Given the description of an element on the screen output the (x, y) to click on. 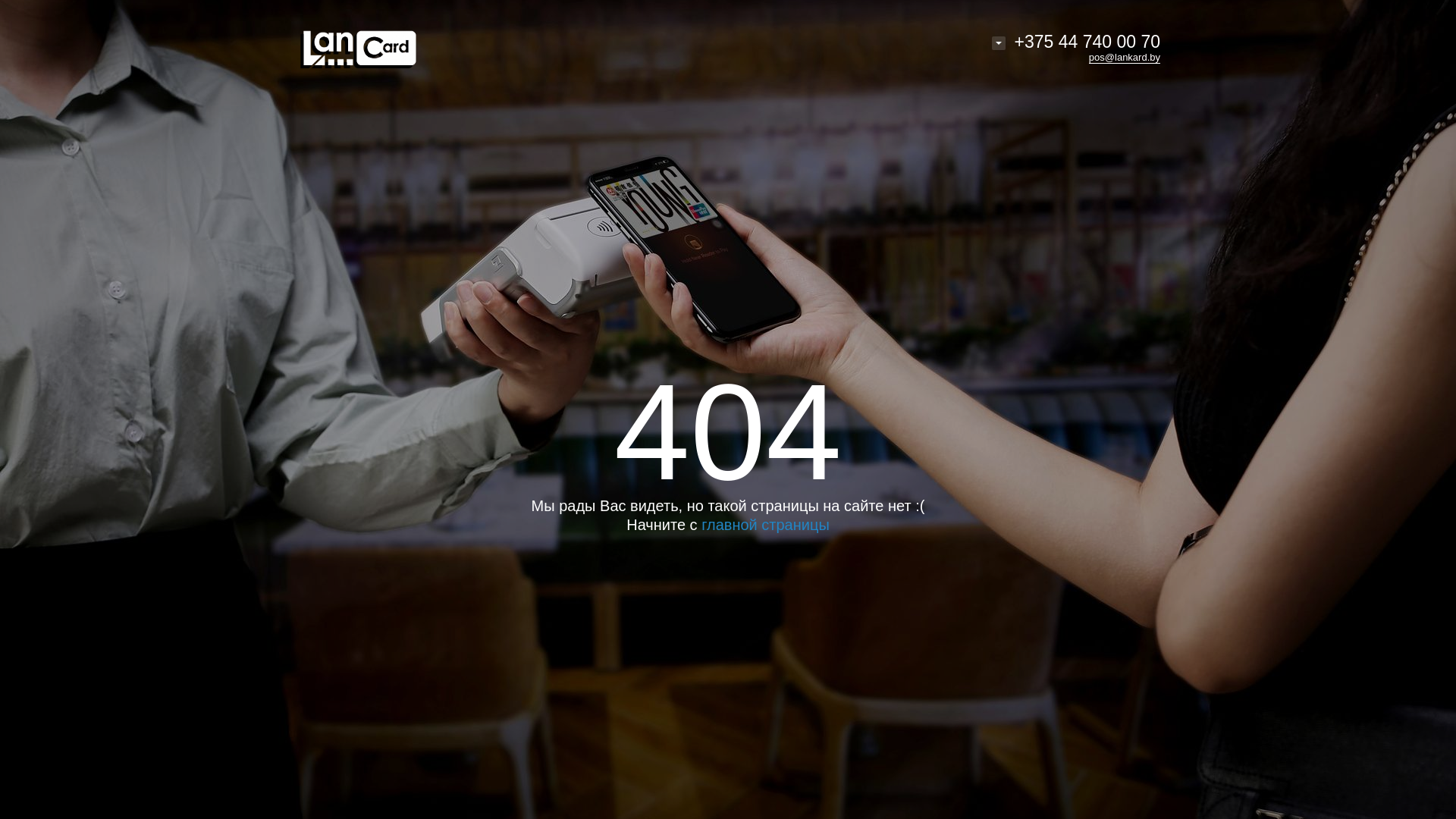
pos@lankard.by Element type: text (1124, 57)
